Given the description of an element on the screen output the (x, y) to click on. 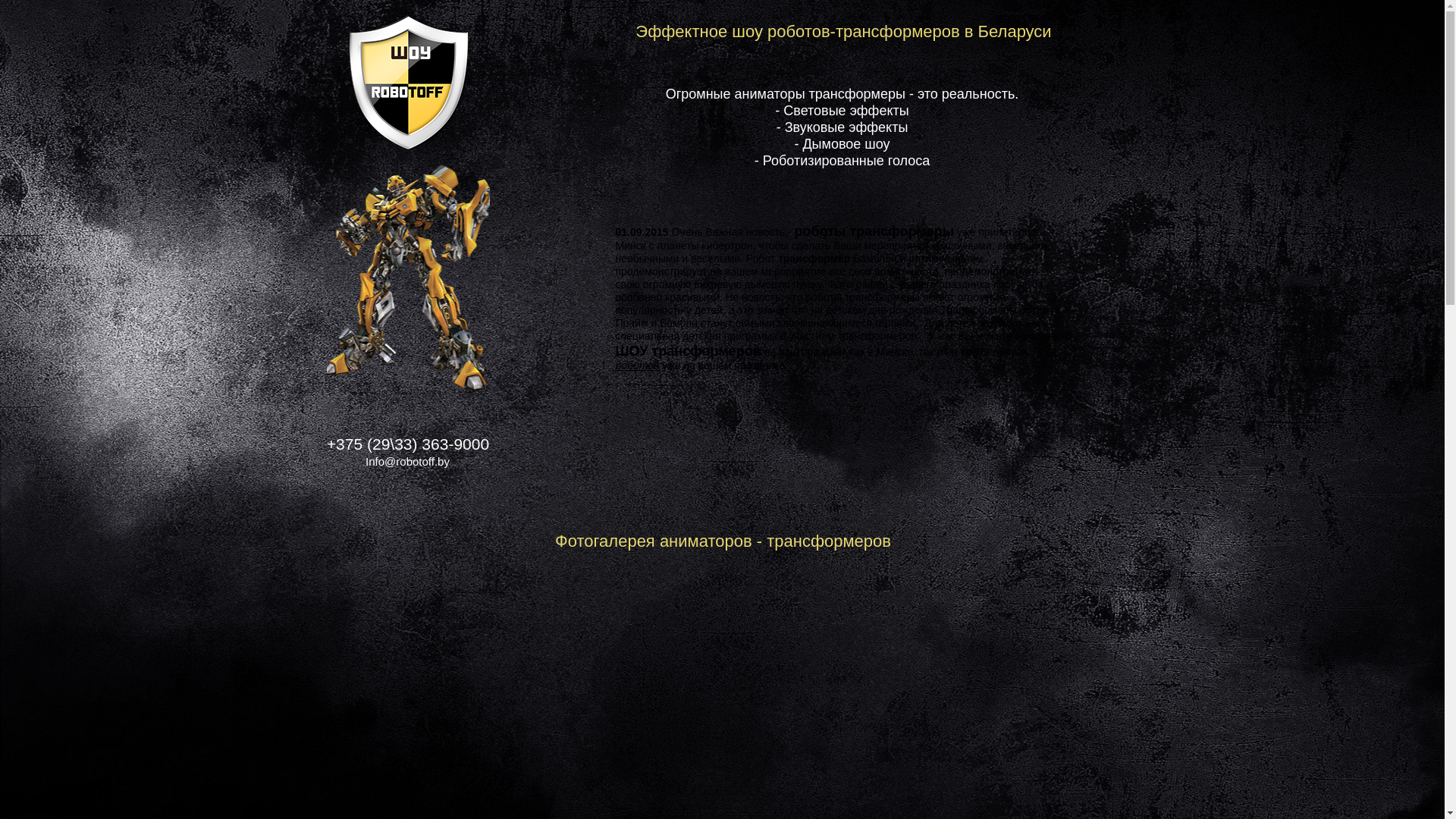
+375 (29\33) 363-9000 Element type: text (407, 444)
Info@robotoff.by Element type: text (406, 465)
